Given the description of an element on the screen output the (x, y) to click on. 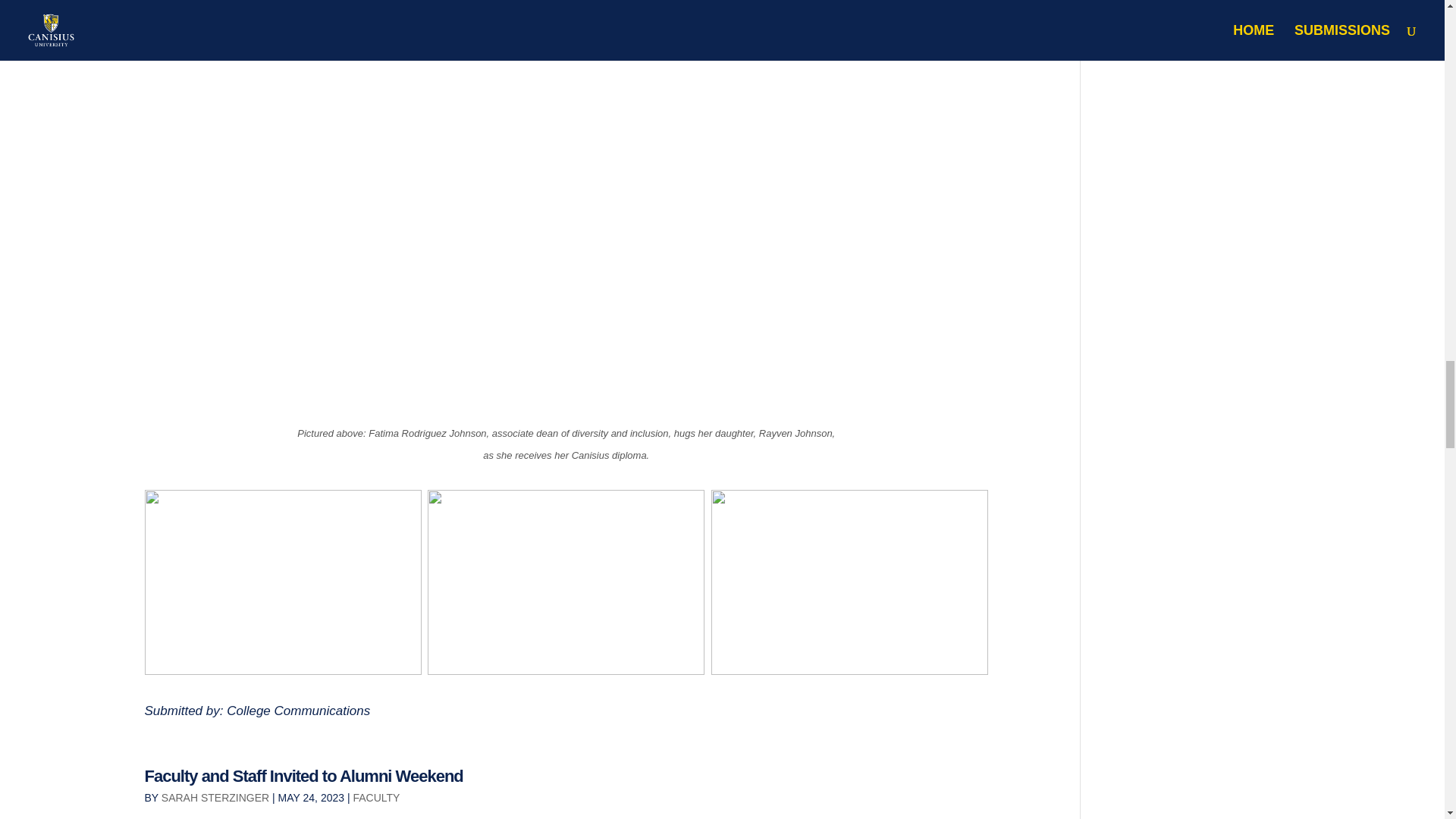
Faculty and Staff Invited to Alumni Weekend (303, 774)
Posts by Sarah Sterzinger (215, 797)
FACULTY (375, 797)
SARAH STERZINGER (215, 797)
